Given the description of an element on the screen output the (x, y) to click on. 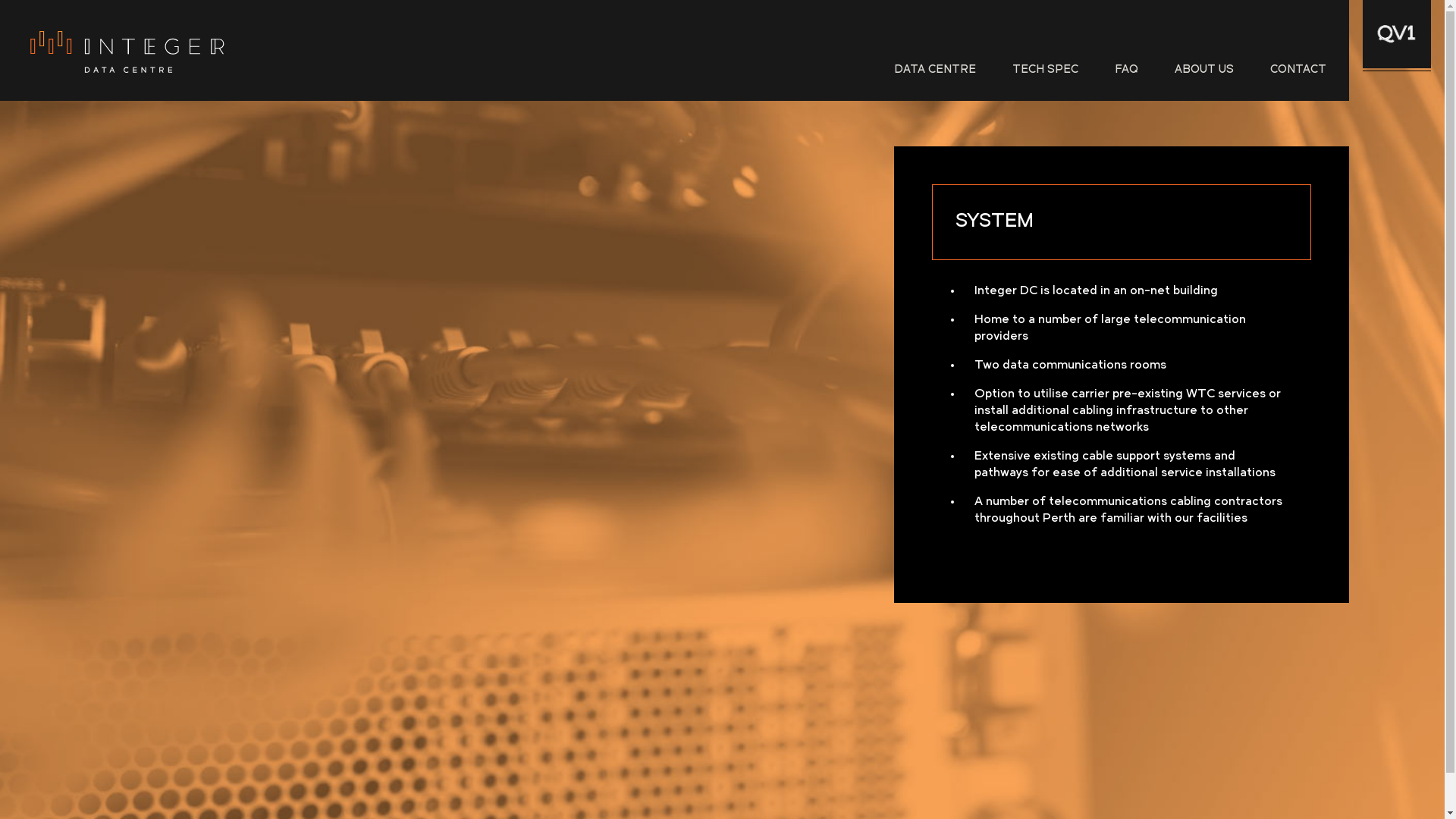
DATA CENTRE Element type: text (938, 70)
CONTACT Element type: text (1297, 70)
FAQ Element type: text (1126, 70)
TECH SPEC Element type: text (1044, 70)
ABOUT US Element type: text (1204, 70)
